Given the description of an element on the screen output the (x, y) to click on. 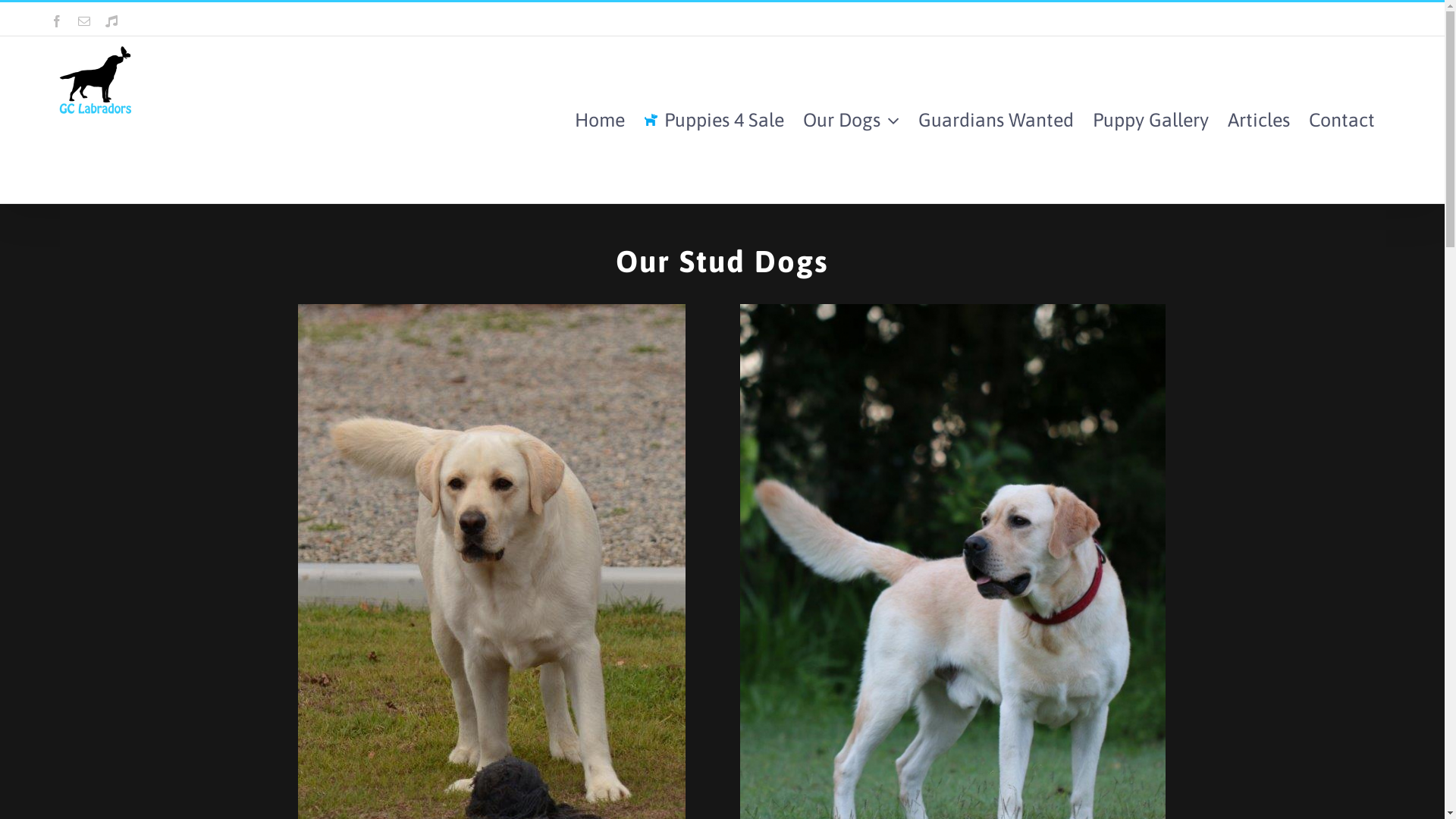
Email Element type: text (84, 21)
Puppy Gallery Element type: text (1150, 119)
Puppies 4 Sale Element type: text (713, 119)
Tiktok Element type: text (111, 21)
Articles Element type: text (1258, 119)
Home Element type: text (599, 119)
Contact Element type: text (1341, 119)
Our Dogs Element type: text (851, 119)
Facebook Element type: text (56, 21)
Guardians Wanted Element type: text (995, 119)
